Given the description of an element on the screen output the (x, y) to click on. 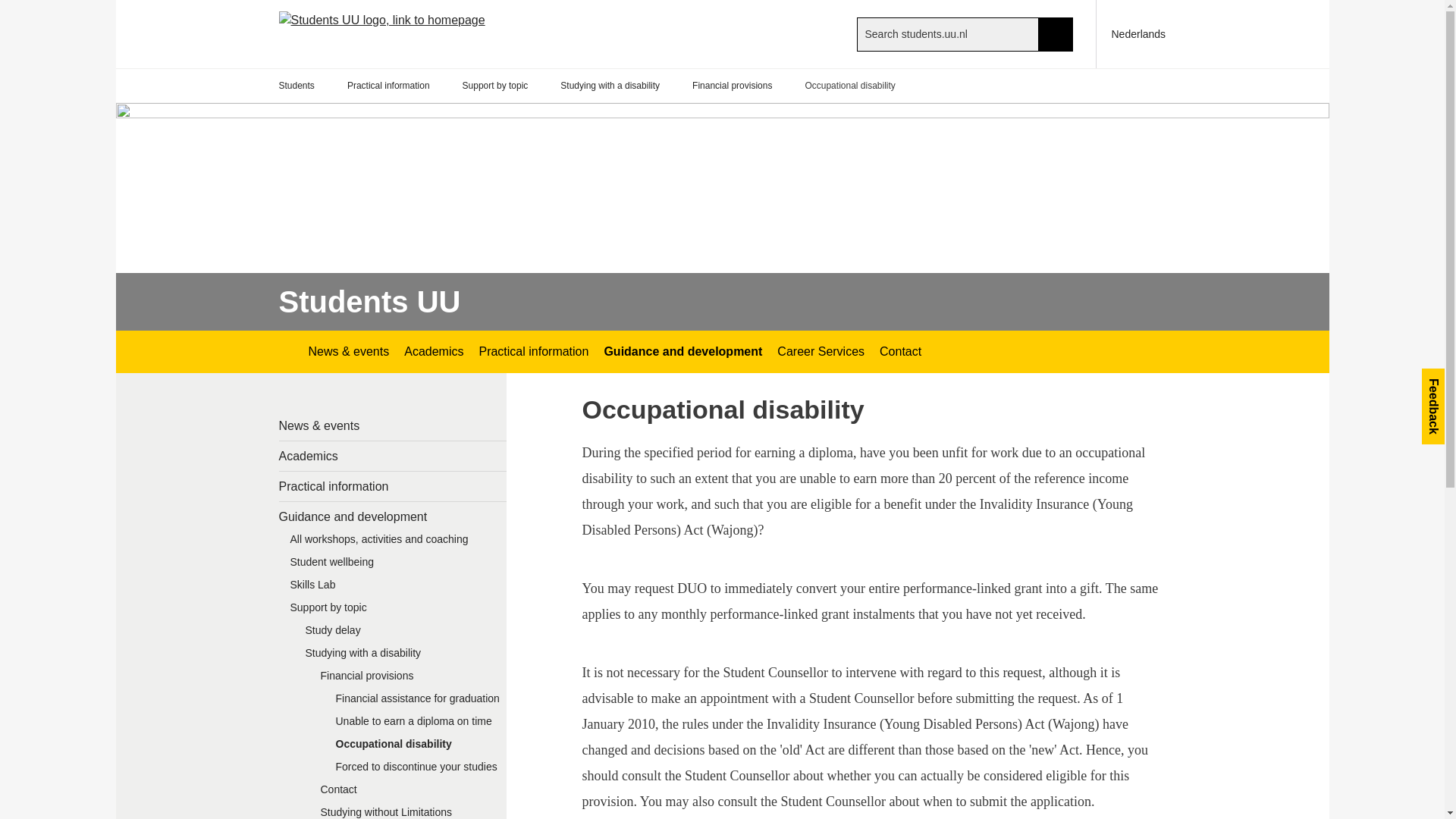
SEARCH (1056, 33)
Students (296, 85)
Students UU (370, 301)
Skip to main content (7, 7)
Financial provisions (732, 85)
Nederlands (1131, 33)
Academics (433, 351)
Students UU (284, 351)
Support by topic (495, 85)
Home (408, 33)
Practical information (388, 85)
Studying with a disability (609, 85)
